Given the description of an element on the screen output the (x, y) to click on. 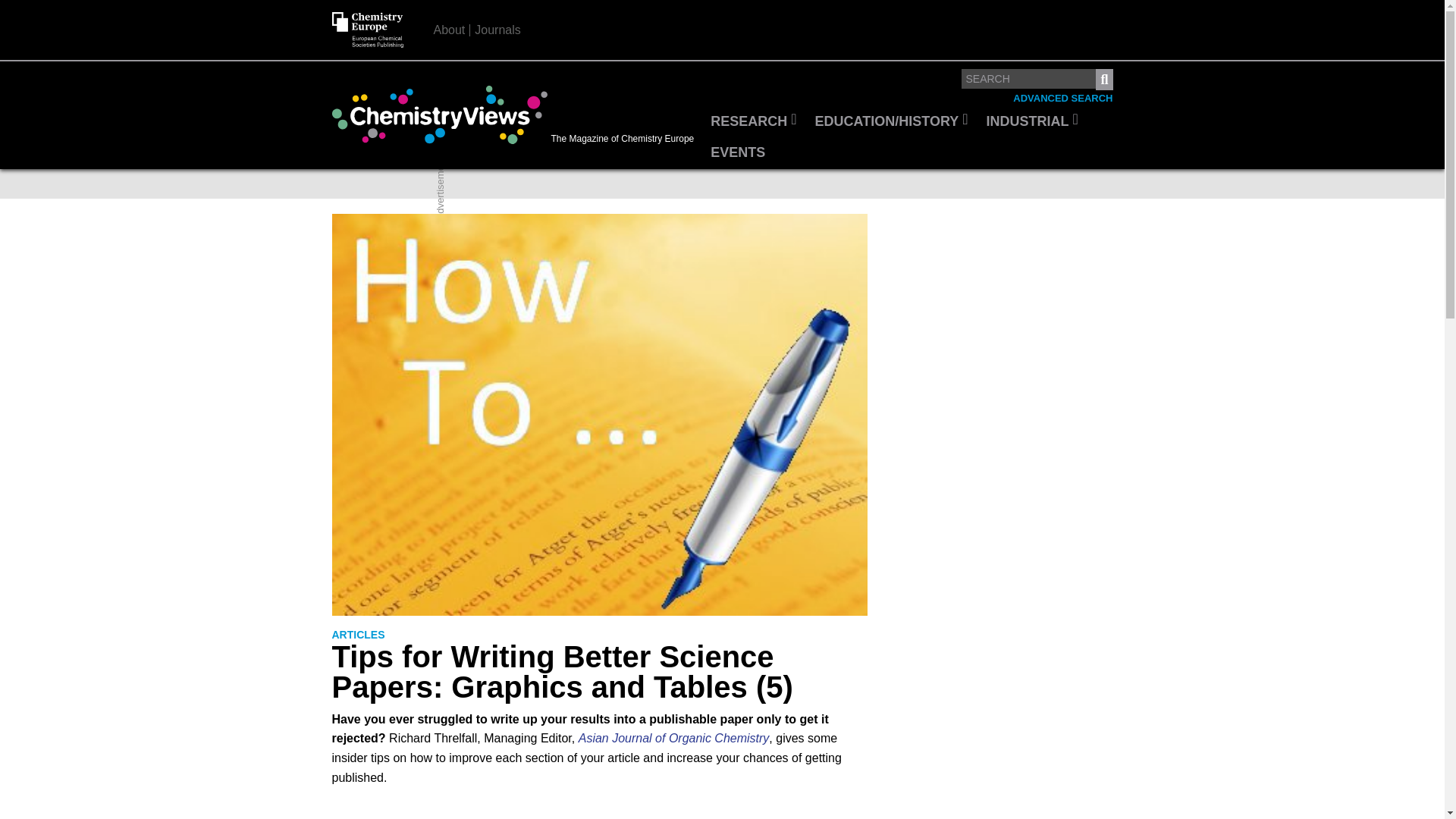
INDUSTRIAL (1031, 122)
Journals (496, 29)
ARTICLES (358, 634)
RESEARCH (753, 122)
The Magazine of Chemistry Europe (516, 114)
ADVANCED SEARCH (1062, 98)
About (449, 29)
Asian Journal of Organic Chemistry (674, 738)
EVENTS (737, 152)
